Given the description of an element on the screen output the (x, y) to click on. 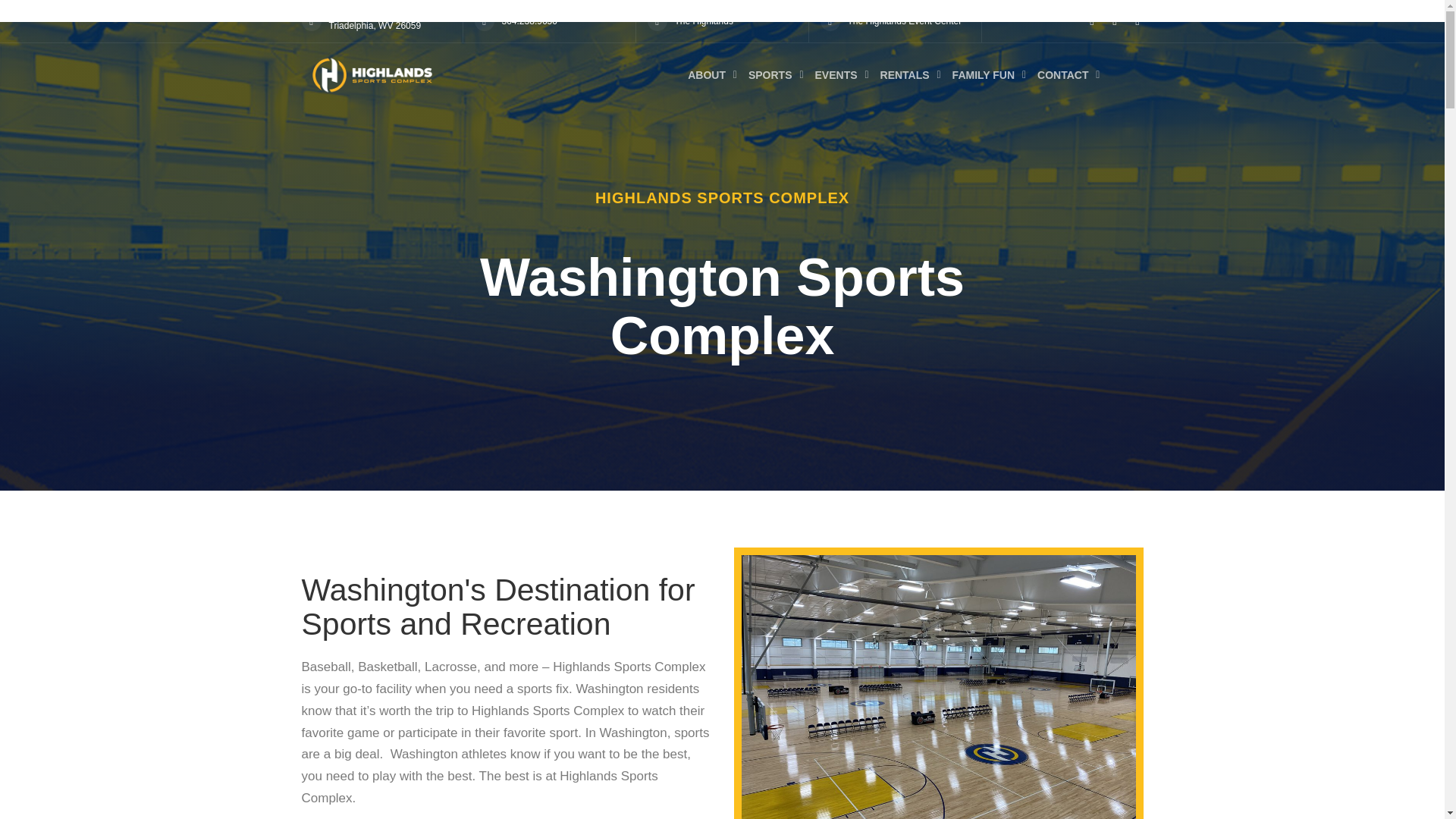
304.238.9650 (529, 20)
FAMILY FUN (983, 74)
The Highlands Event Center (904, 20)
SPORTS (769, 74)
RENTALS (904, 74)
The Highlands (704, 20)
ABOUT (706, 74)
EVENTS (836, 74)
